Given the description of an element on the screen output the (x, y) to click on. 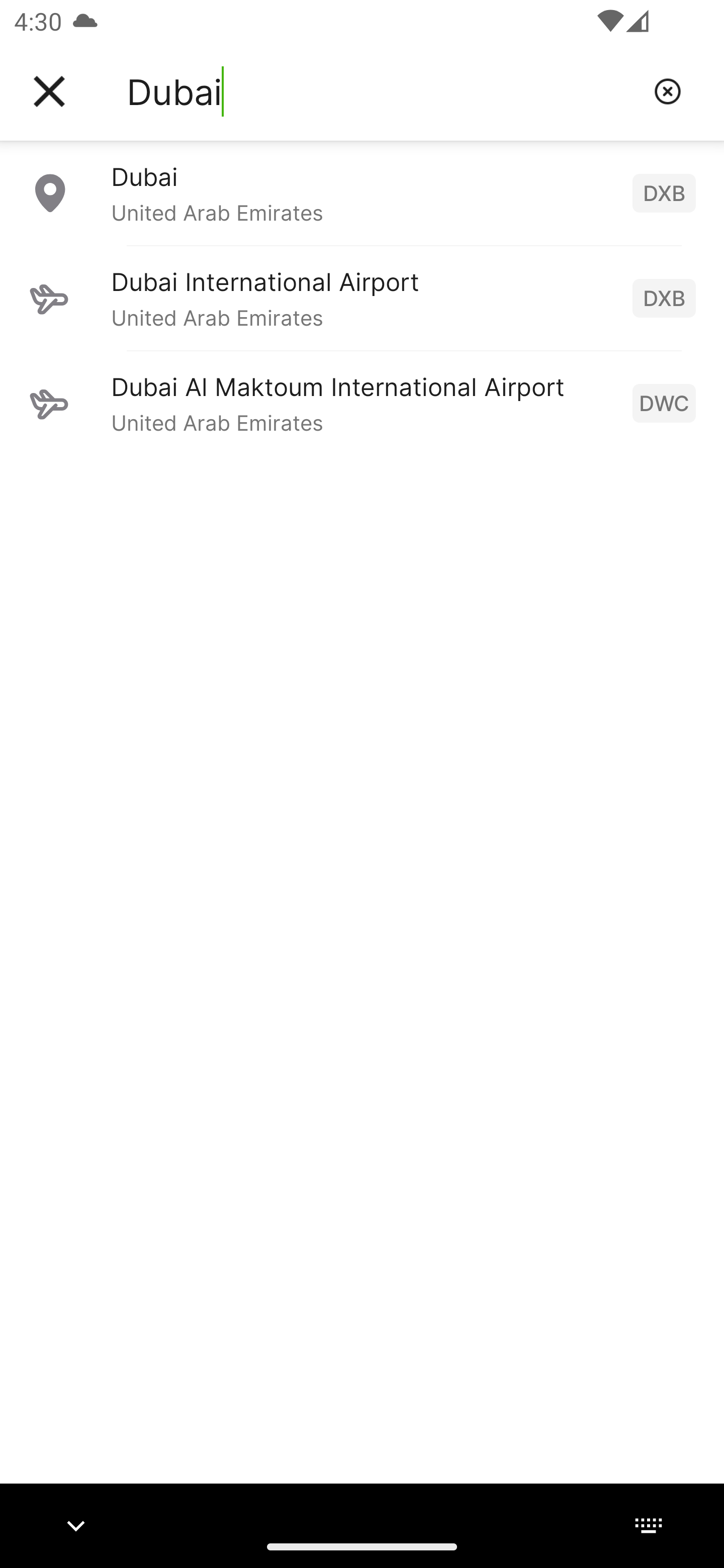
Dubai (382, 91)
Dubai United Arab Emirates DXB (362, 192)
